Given the description of an element on the screen output the (x, y) to click on. 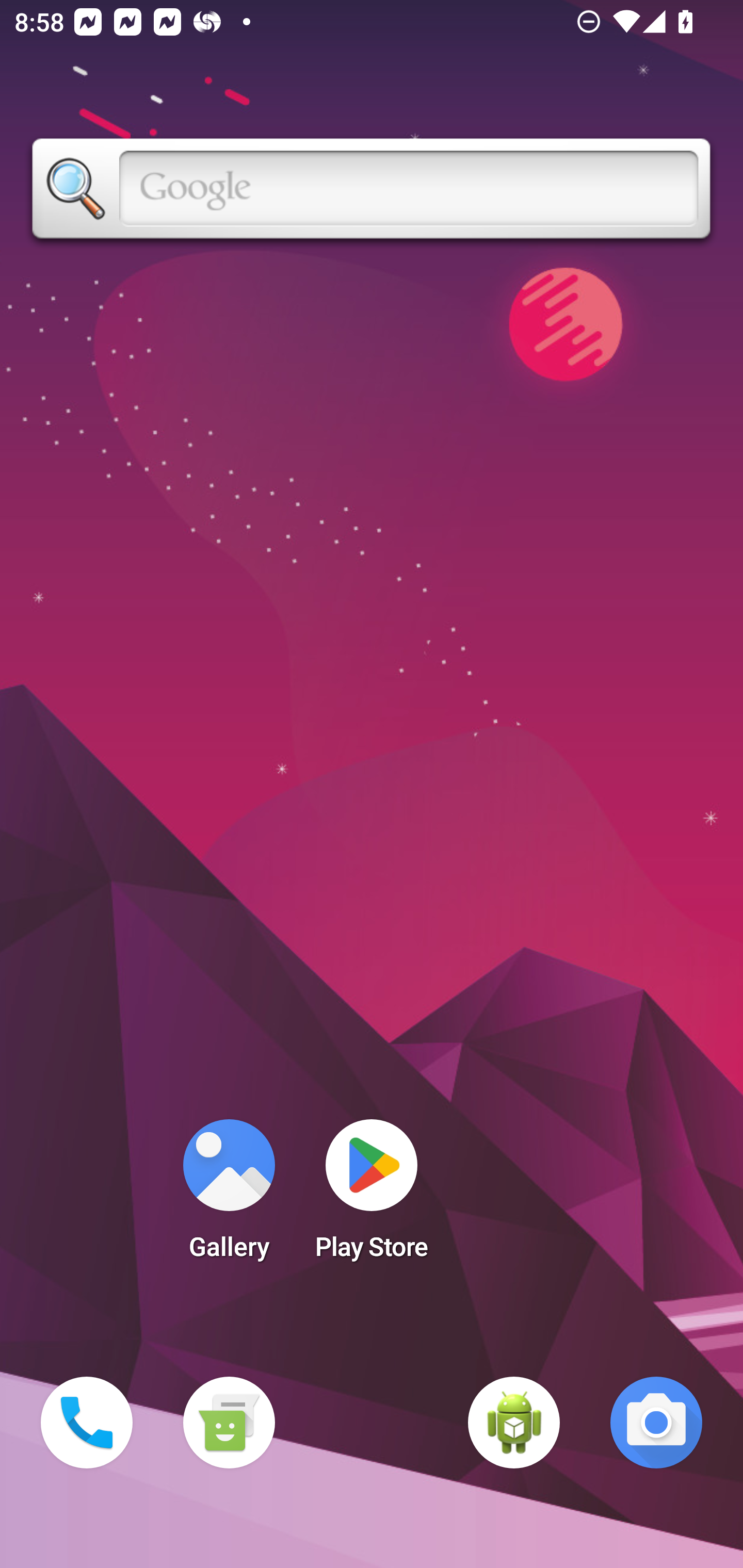
Gallery (228, 1195)
Play Store (371, 1195)
Phone (86, 1422)
Messaging (228, 1422)
WebView Browser Tester (513, 1422)
Camera (656, 1422)
